Given the description of an element on the screen output the (x, y) to click on. 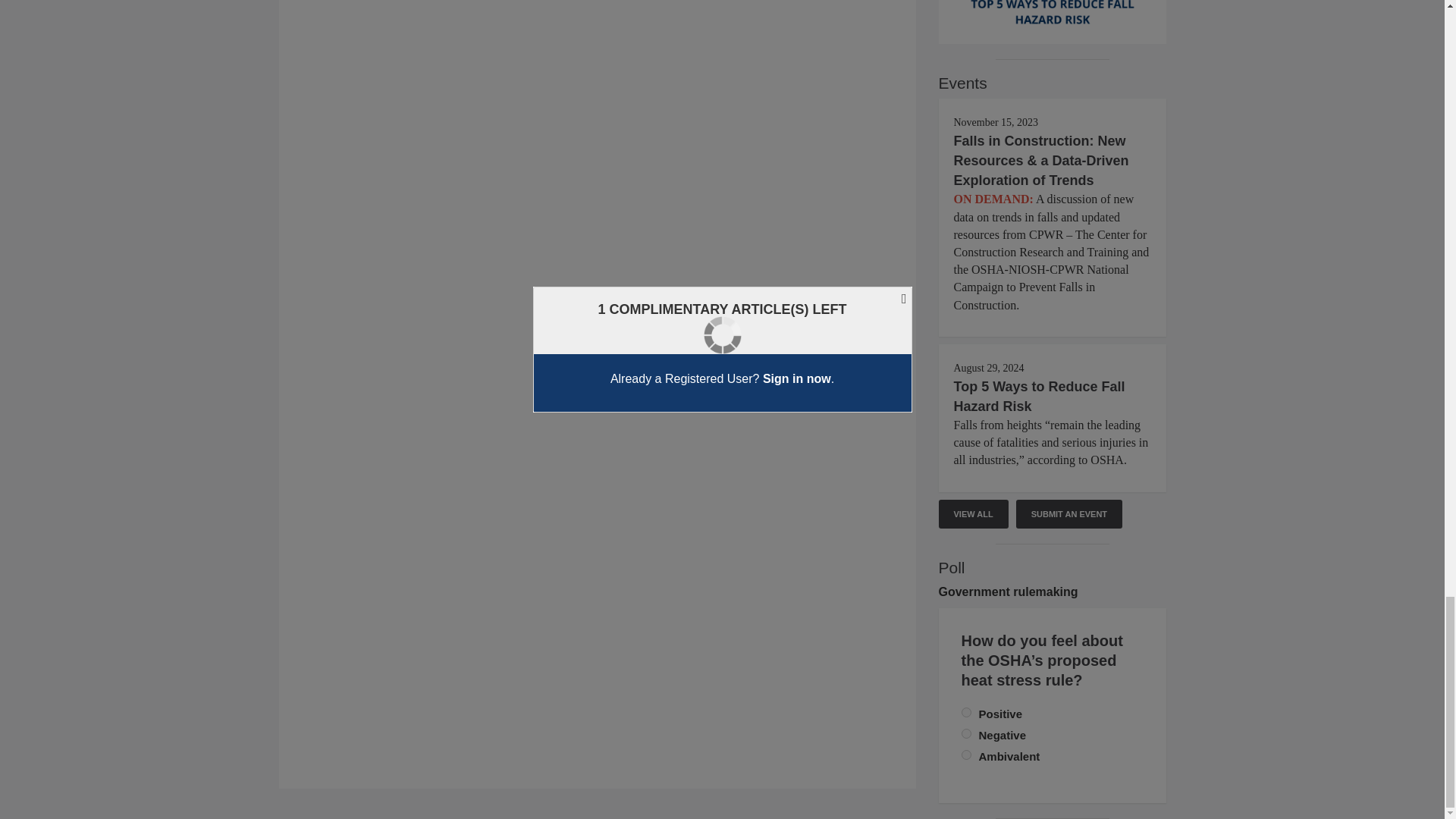
144 (965, 755)
Top 5 Ways to Reduce Fall Hazard Risk (1039, 396)
143 (965, 733)
142 (965, 712)
